Given the description of an element on the screen output the (x, y) to click on. 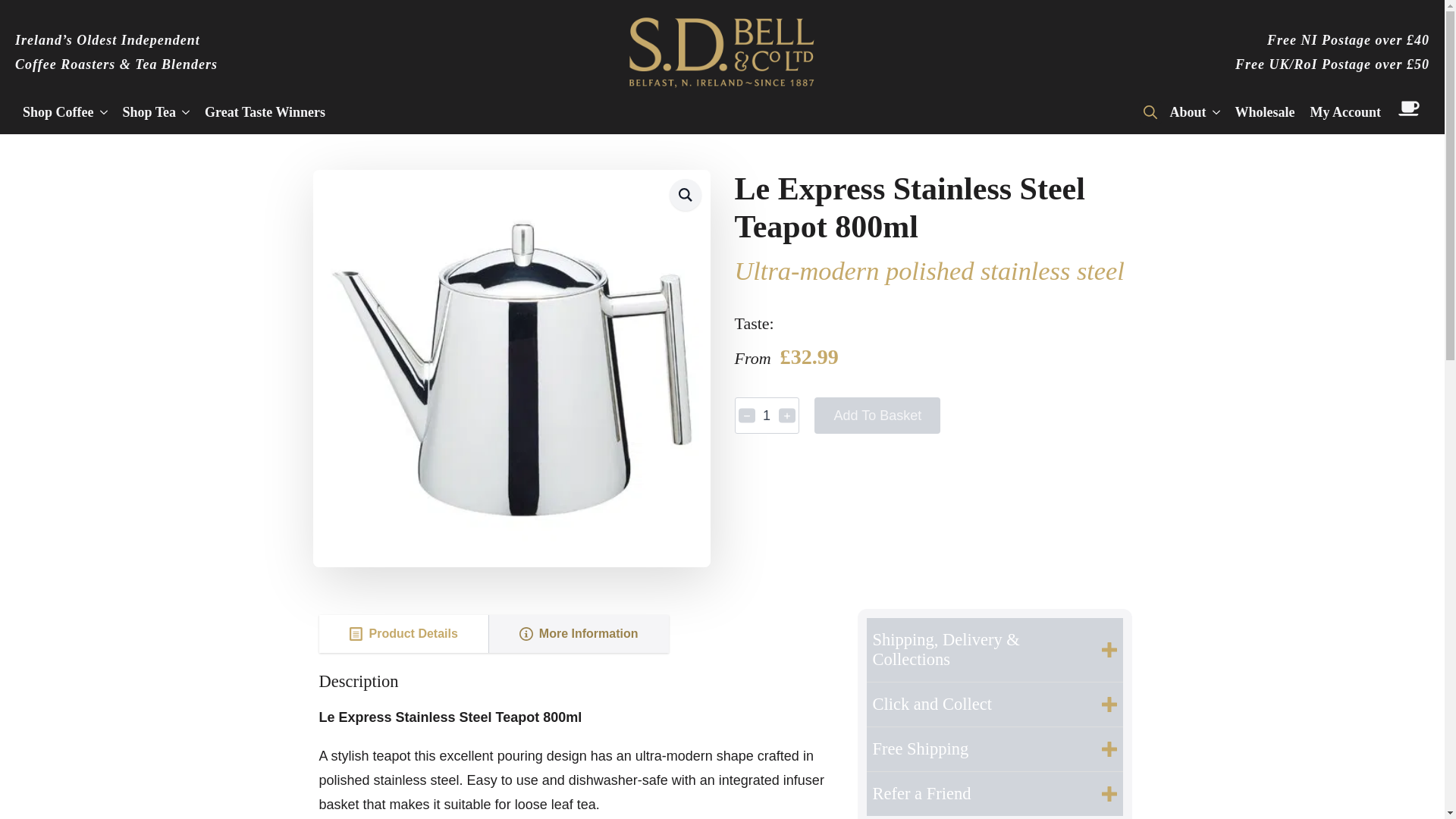
About (1183, 111)
1 (765, 415)
Great Taste Winners (264, 111)
Shop Tea (145, 111)
Shop Coffee (54, 111)
